Given the description of an element on the screen output the (x, y) to click on. 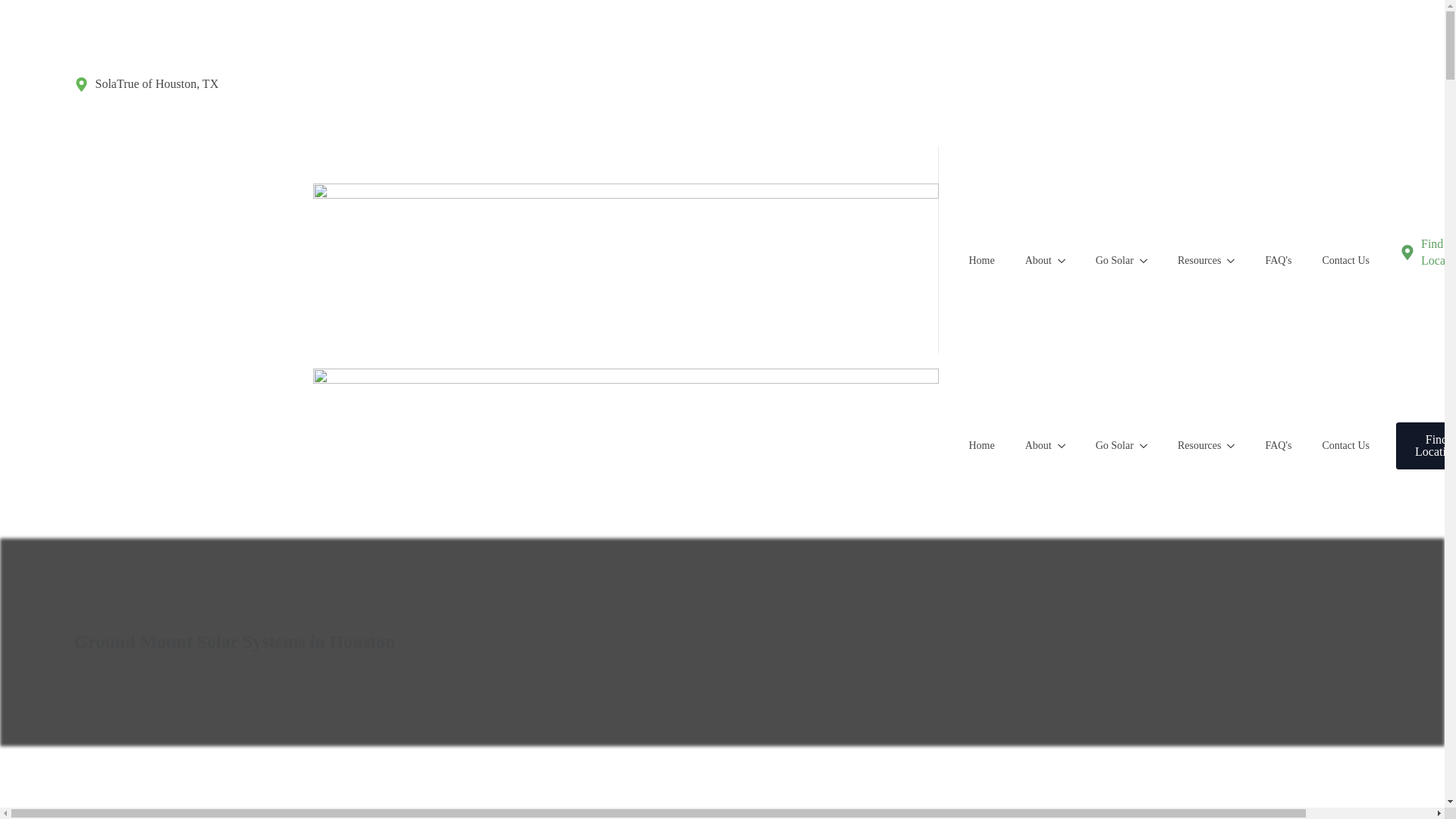
Resources (1191, 260)
Find a Location (1427, 252)
Home (981, 260)
About (1030, 445)
Go Solar (1107, 260)
About (1030, 260)
Contact Us (1345, 260)
Home (981, 445)
Go Solar (1107, 445)
FAQ's (1277, 260)
